Given the description of an element on the screen output the (x, y) to click on. 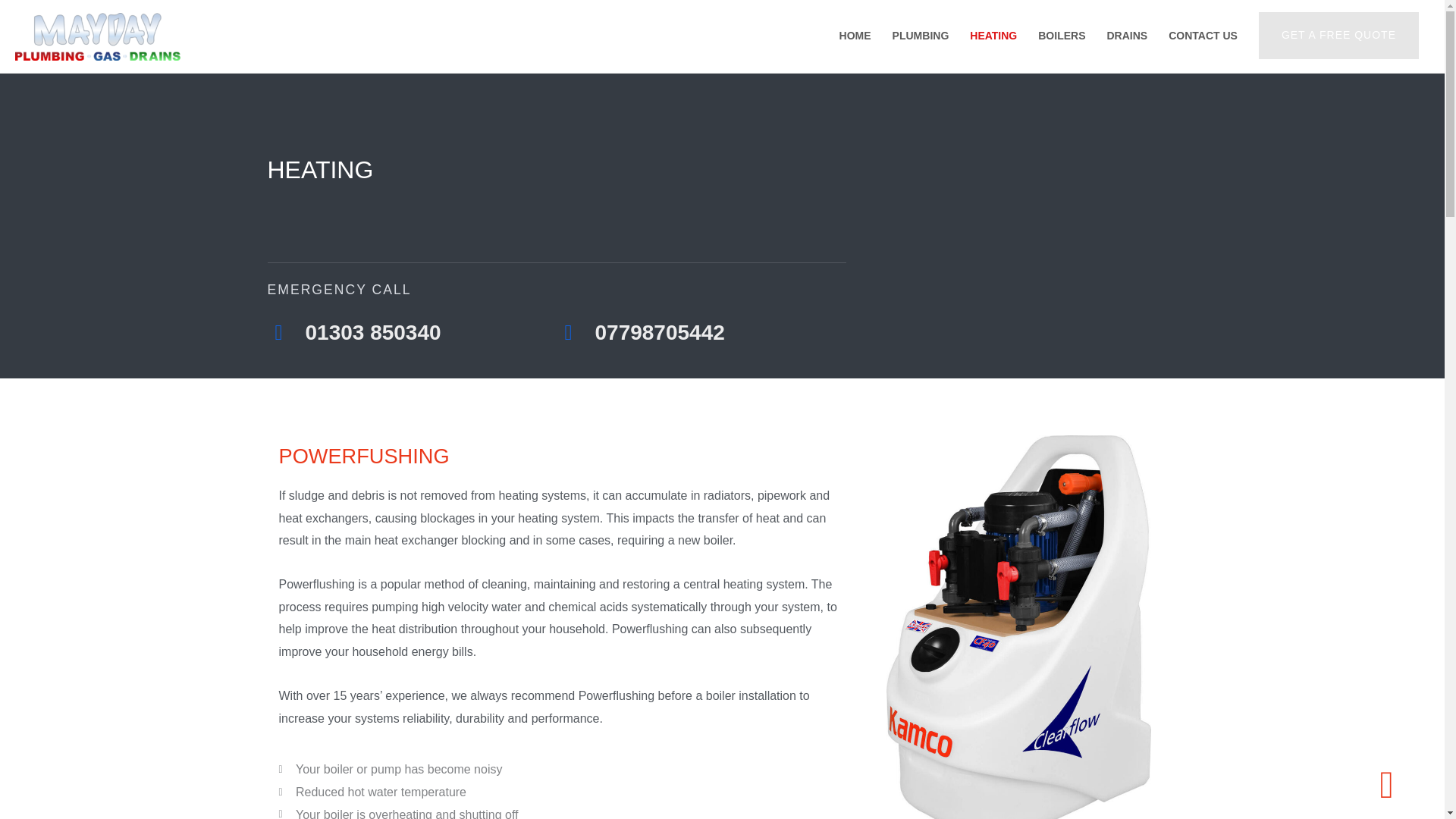
BOILERS (1061, 35)
HEATING (993, 35)
CONTACT US (1202, 35)
GET A FREE QUOTE (1338, 35)
DRAINS (1126, 35)
HOME (855, 35)
PLUMBING (920, 35)
